Given the description of an element on the screen output the (x, y) to click on. 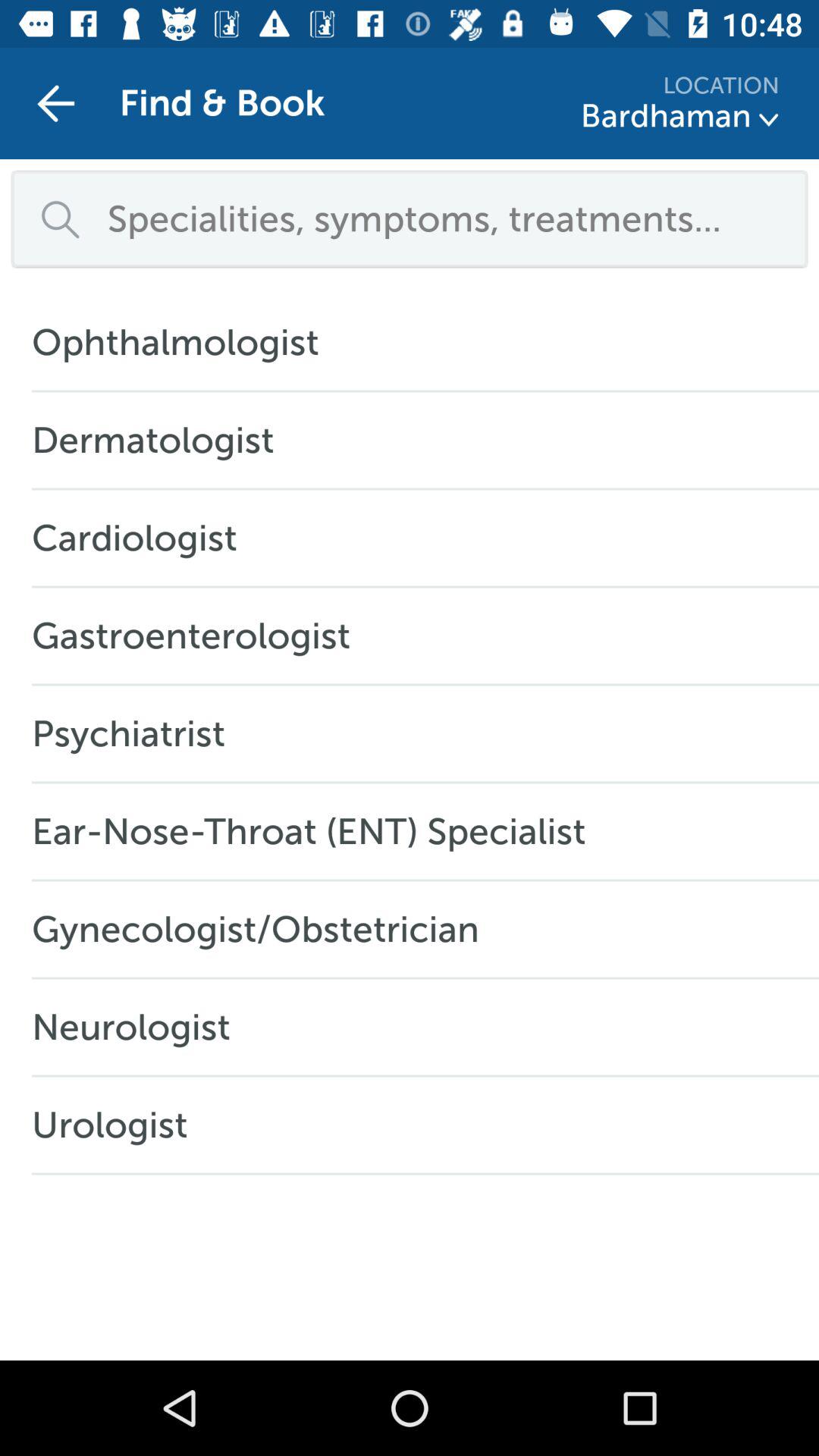
go back (55, 103)
